Given the description of an element on the screen output the (x, y) to click on. 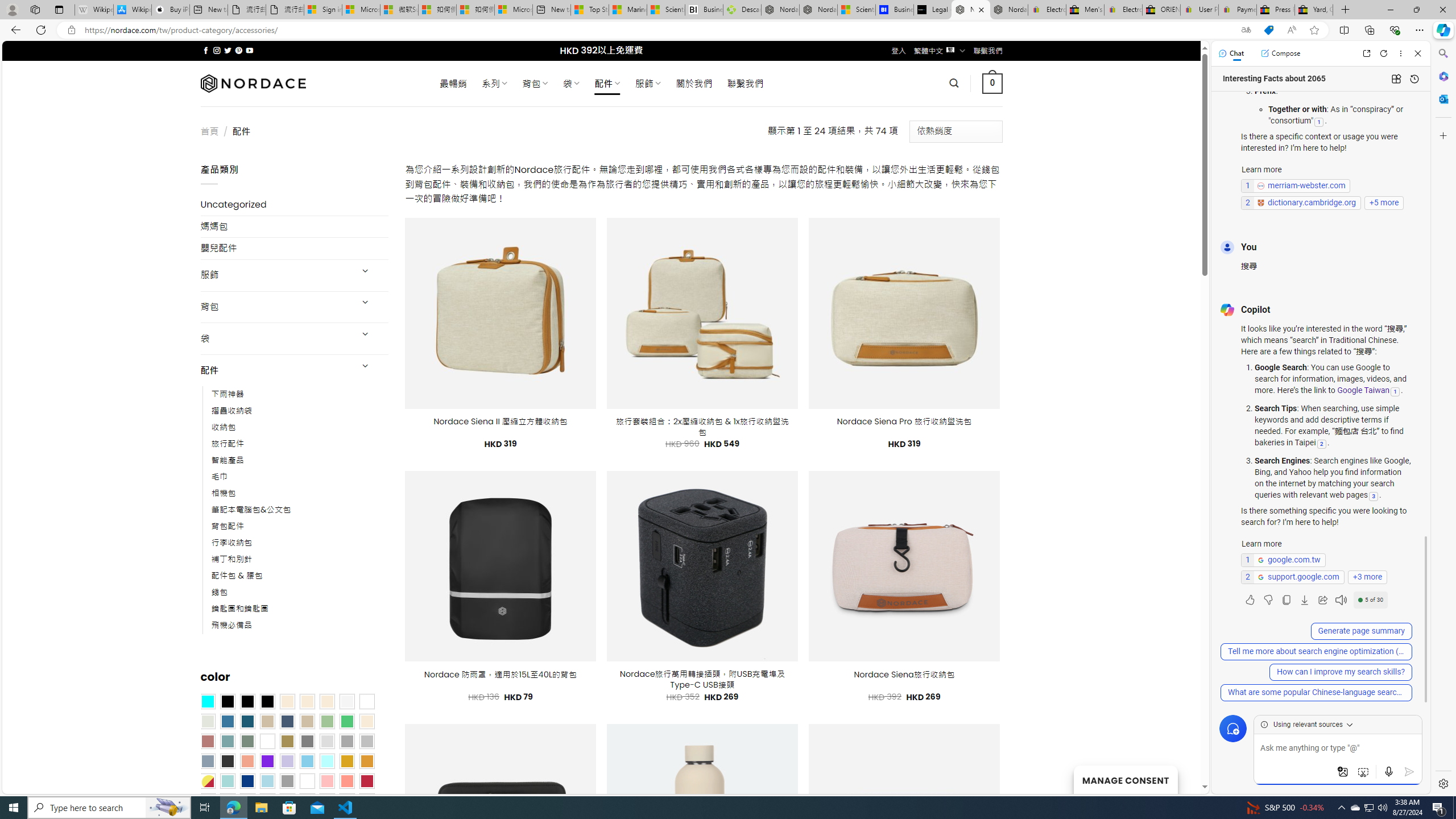
Electronics, Cars, Fashion, Collectibles & More | eBay (1123, 9)
More options (1401, 53)
Chat (1231, 52)
